Given the description of an element on the screen output the (x, y) to click on. 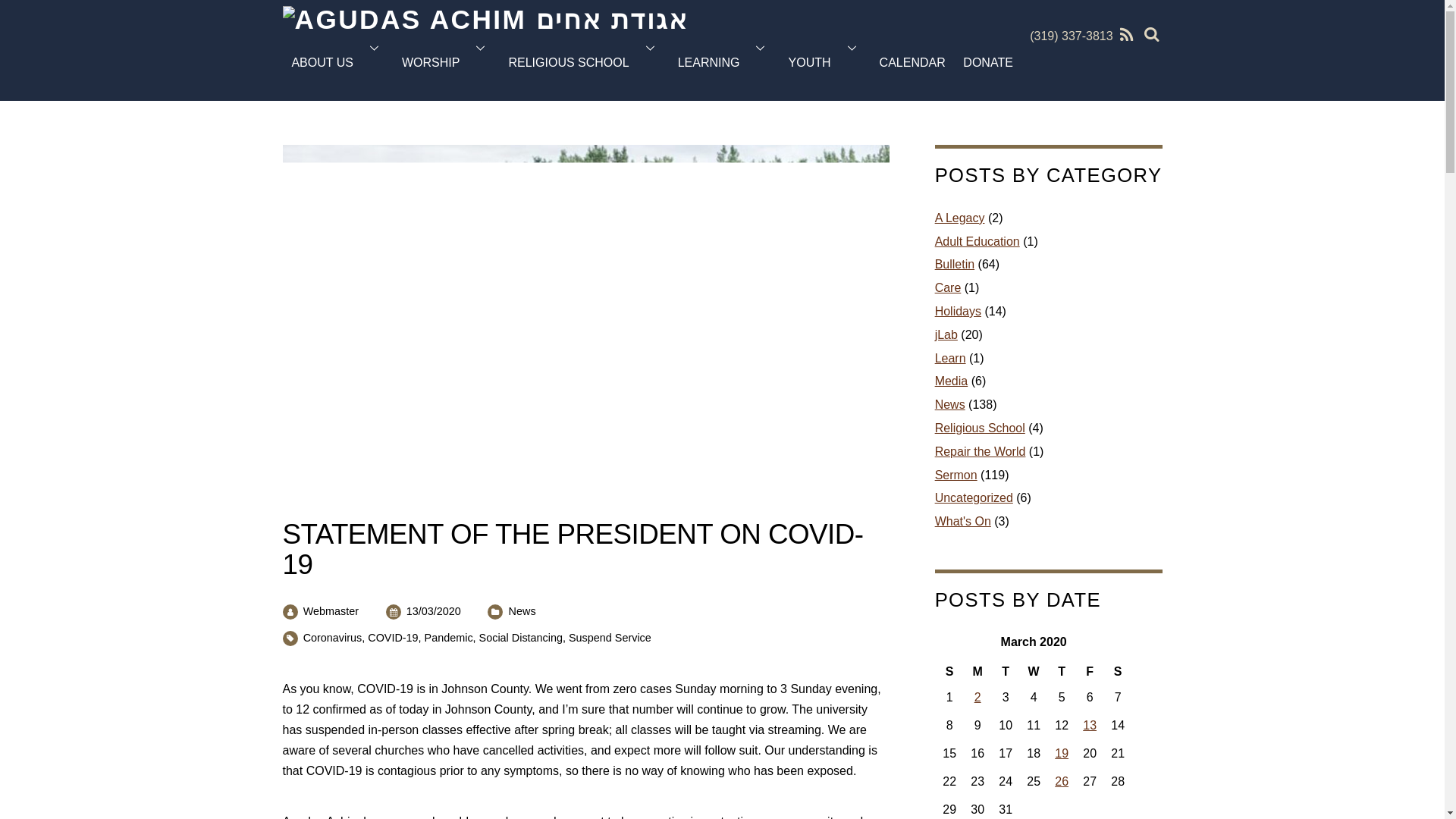
Tuesday (1005, 670)
Friday (1090, 670)
WORSHIP (445, 63)
Sunday (949, 670)
Saturday (1118, 670)
RELIGIOUS SCHOOL (583, 63)
ABOUT US (337, 63)
Monday (977, 670)
Thursday (1061, 670)
Search (1149, 33)
